Given the description of an element on the screen output the (x, y) to click on. 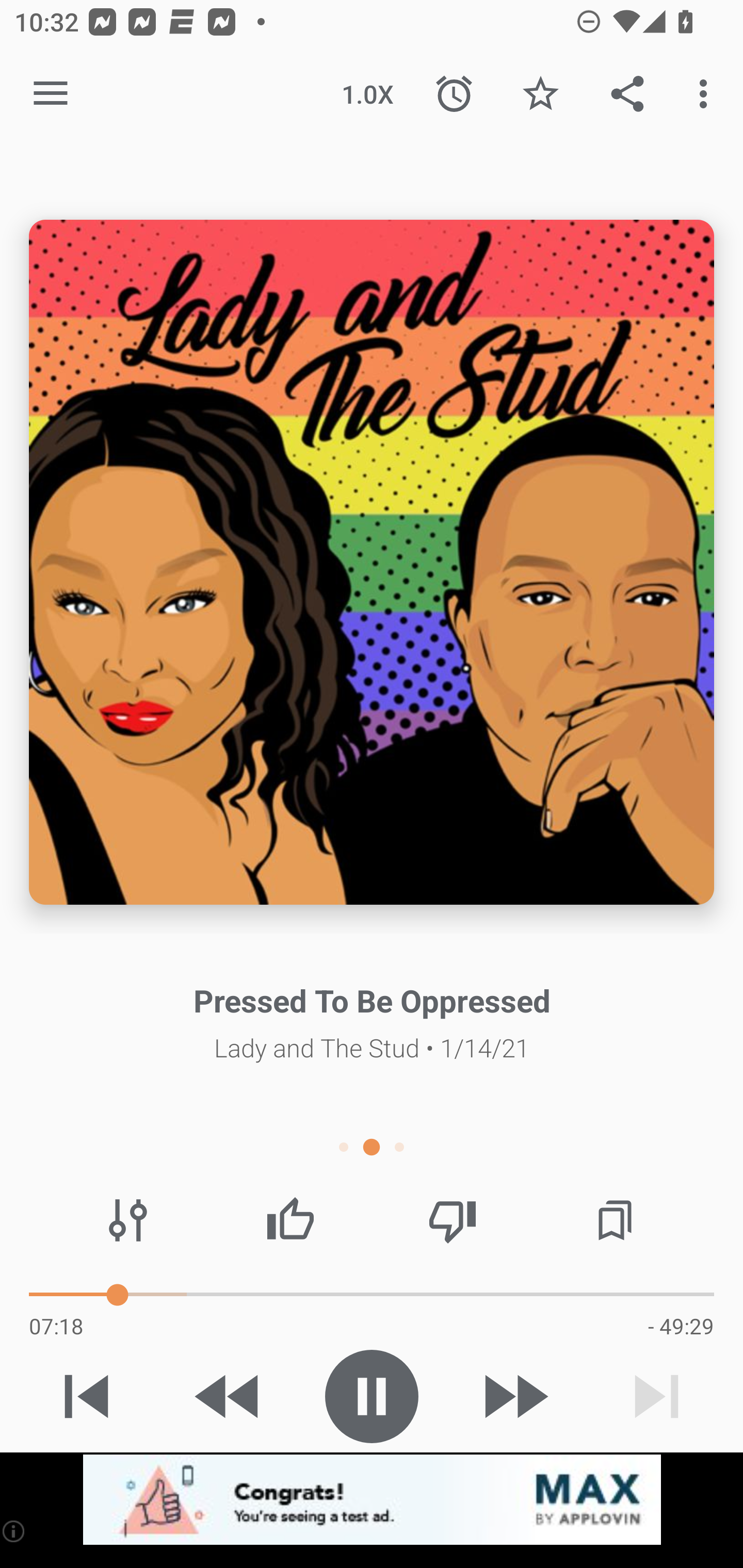
Open navigation sidebar (50, 93)
1.0X (366, 93)
Sleep Timer (453, 93)
Favorite (540, 93)
Share (626, 93)
More options (706, 93)
Episode description (371, 561)
Audio effects (127, 1220)
Thumbs up (290, 1220)
Thumbs down (452, 1220)
Chapters / Bookmarks (614, 1220)
- 49:29 (680, 1325)
Previous track (86, 1395)
Skip 15s backward (228, 1395)
Play / Pause (371, 1395)
Skip 30s forward (513, 1395)
Next track (656, 1395)
app-monetization (371, 1500)
(i) (14, 1531)
